Given the description of an element on the screen output the (x, y) to click on. 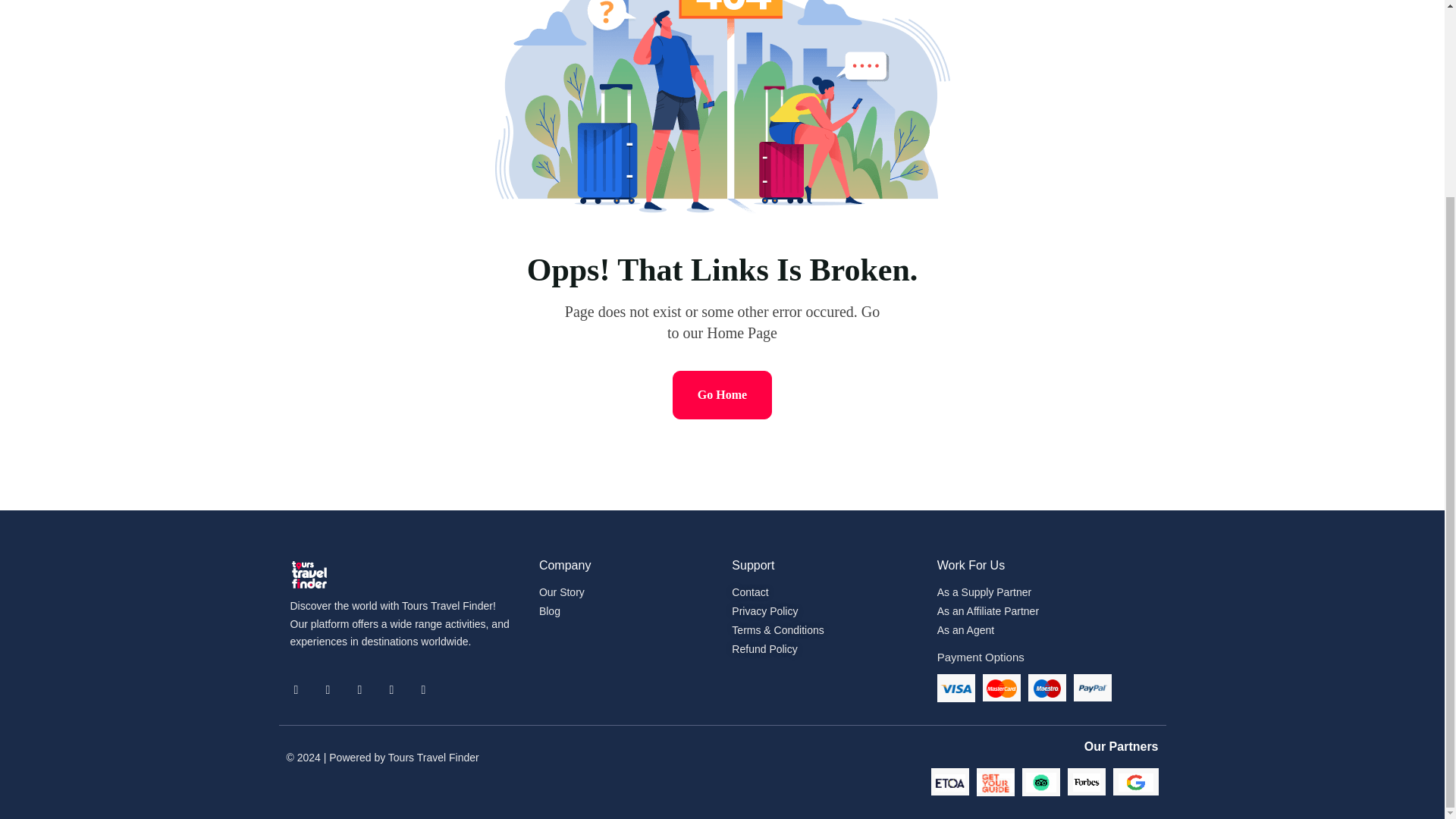
Privacy Policy (823, 611)
Contact (823, 592)
Our Story (561, 592)
Go Home (721, 395)
